Given the description of an element on the screen output the (x, y) to click on. 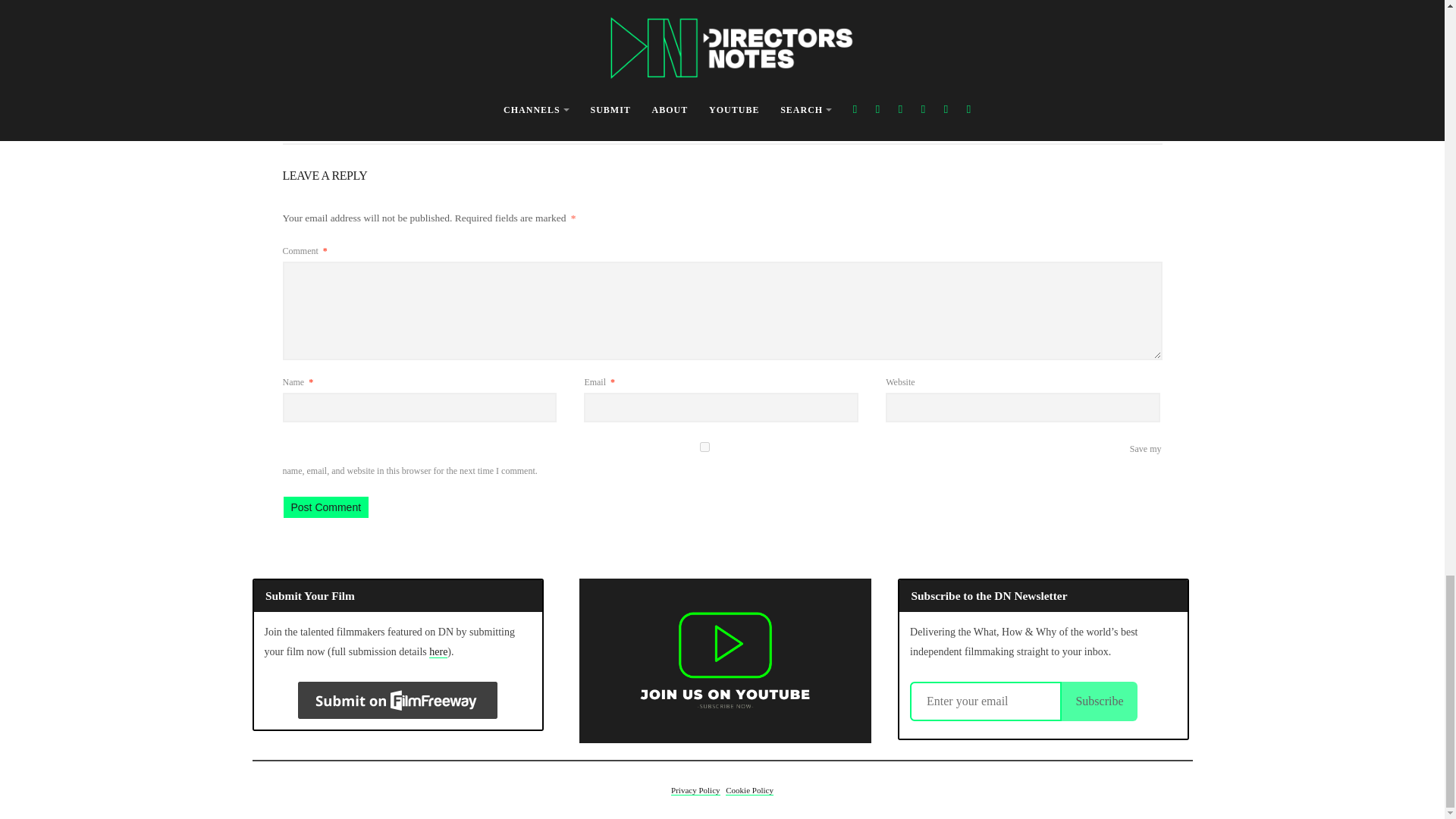
Vowels (595, 93)
Post Comment (326, 506)
yes (704, 447)
Vowels (717, 42)
Vowels (595, 93)
